Given the description of an element on the screen output the (x, y) to click on. 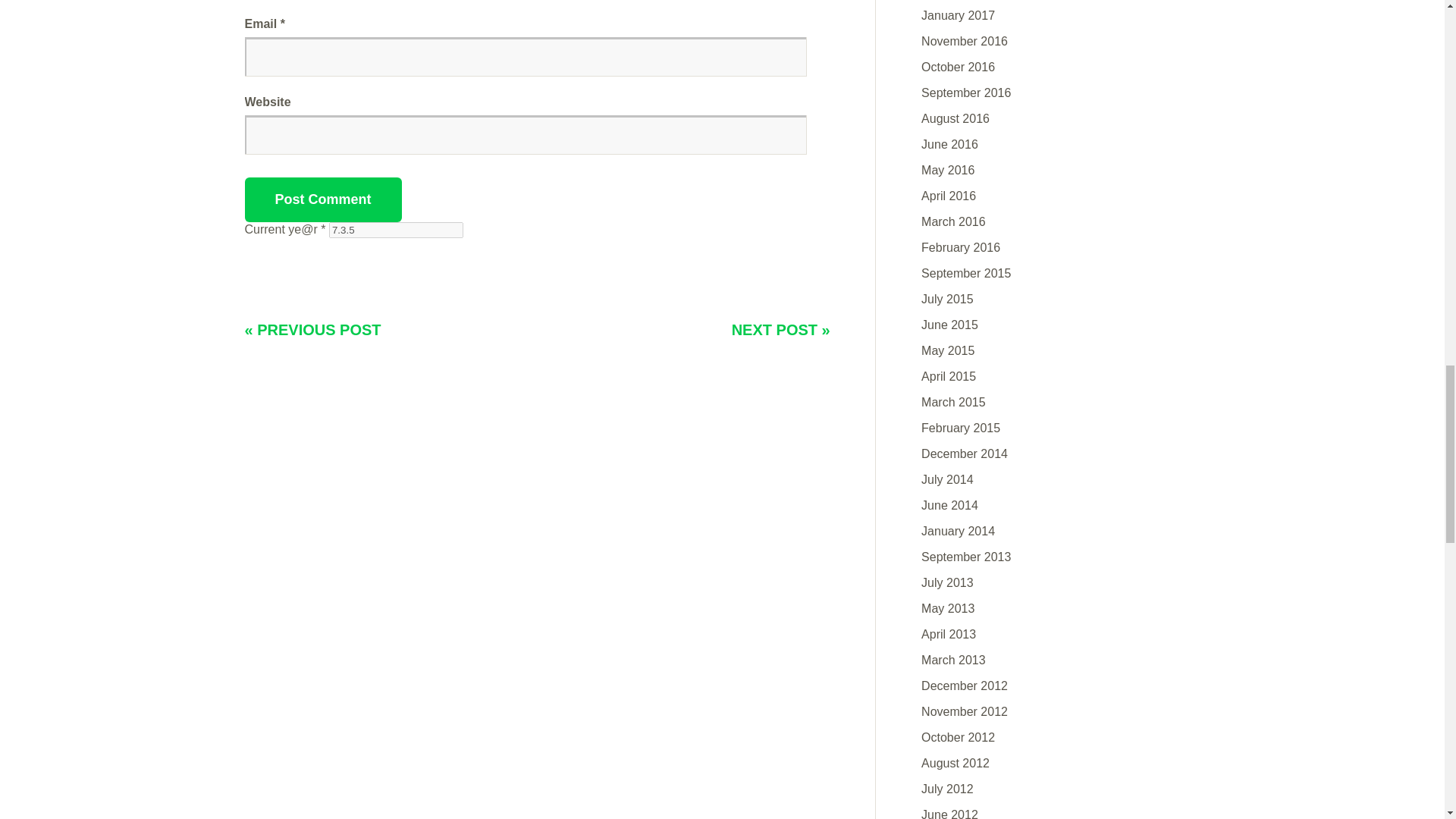
7.3.5 (396, 229)
Post Comment (322, 199)
Post Comment (322, 199)
